Given the description of an element on the screen output the (x, y) to click on. 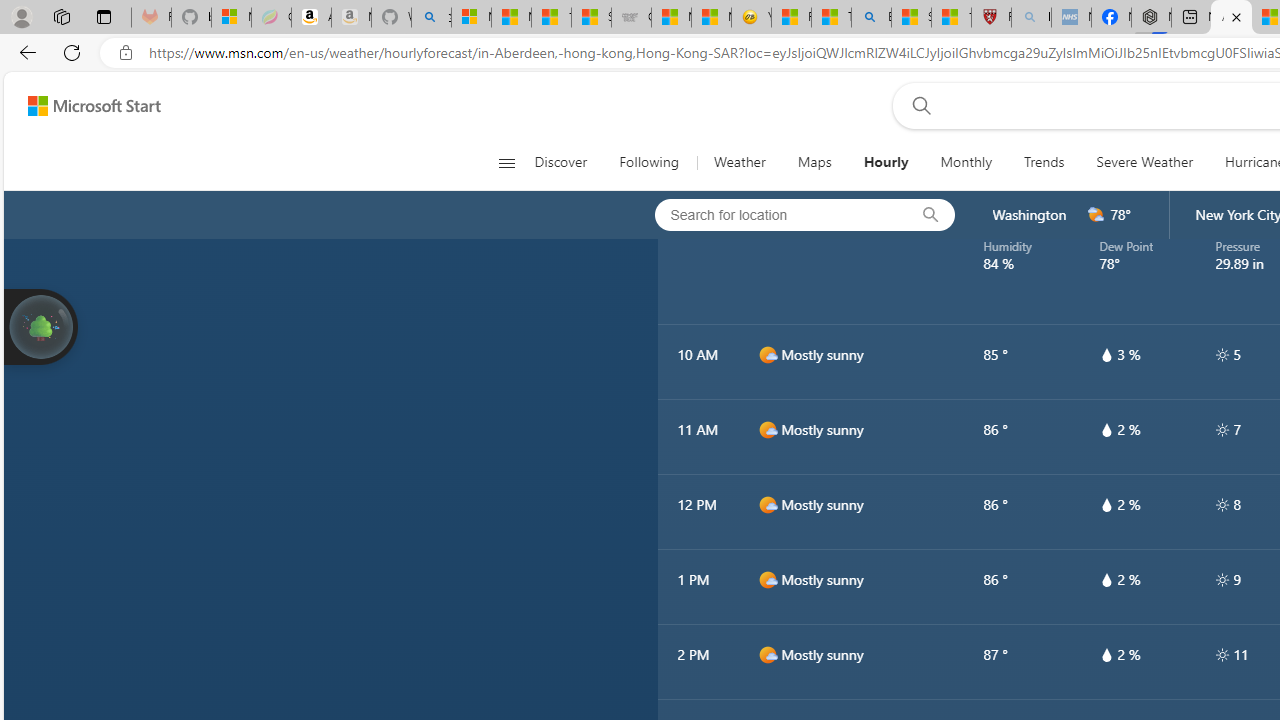
Monthly (966, 162)
d2000 (1096, 215)
hourlyTable/uv (1222, 654)
d1000 (767, 655)
Trends (1044, 162)
